Given the description of an element on the screen output the (x, y) to click on. 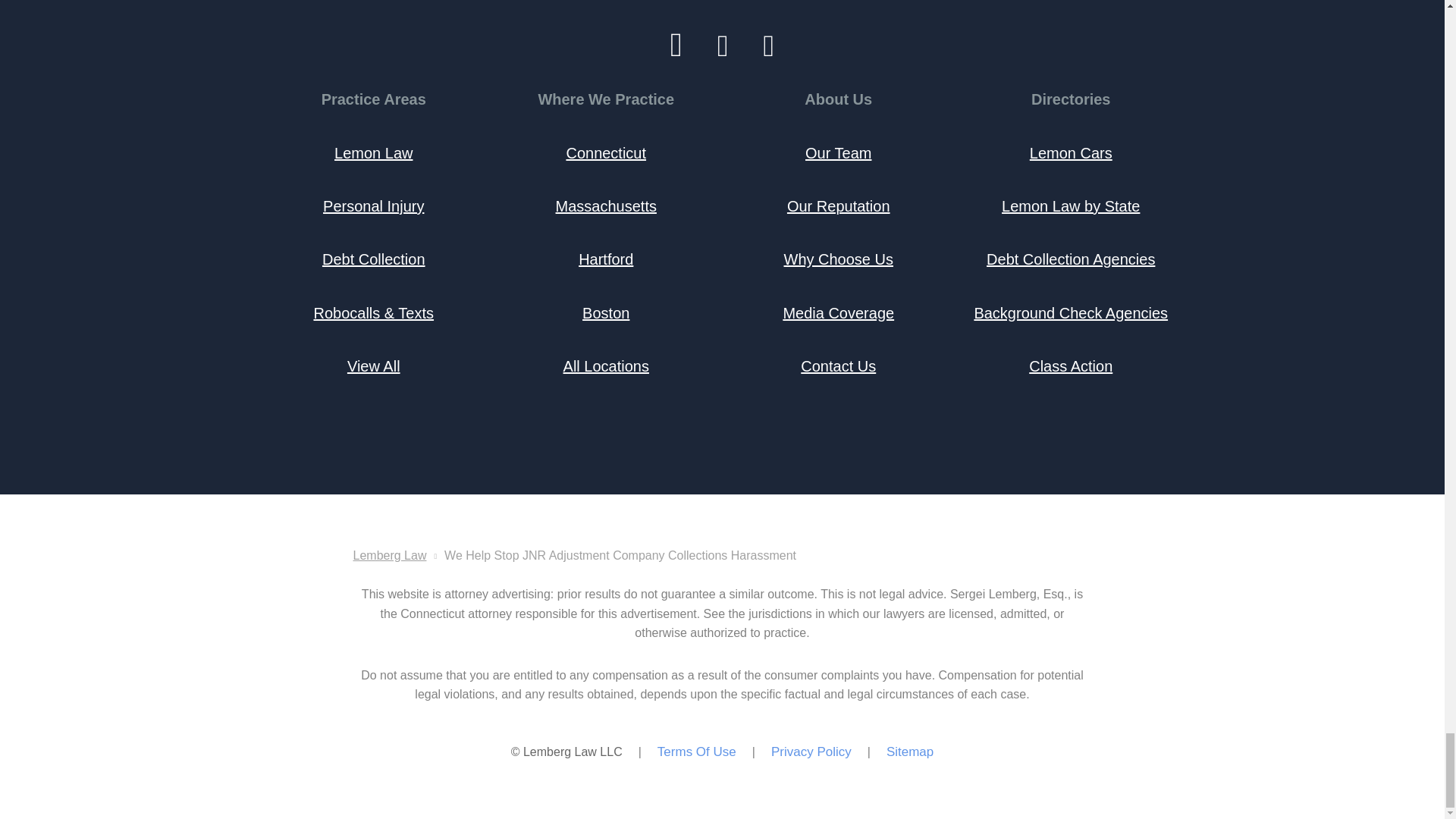
Go to Lemberg Law. (389, 554)
